Given the description of an element on the screen output the (x, y) to click on. 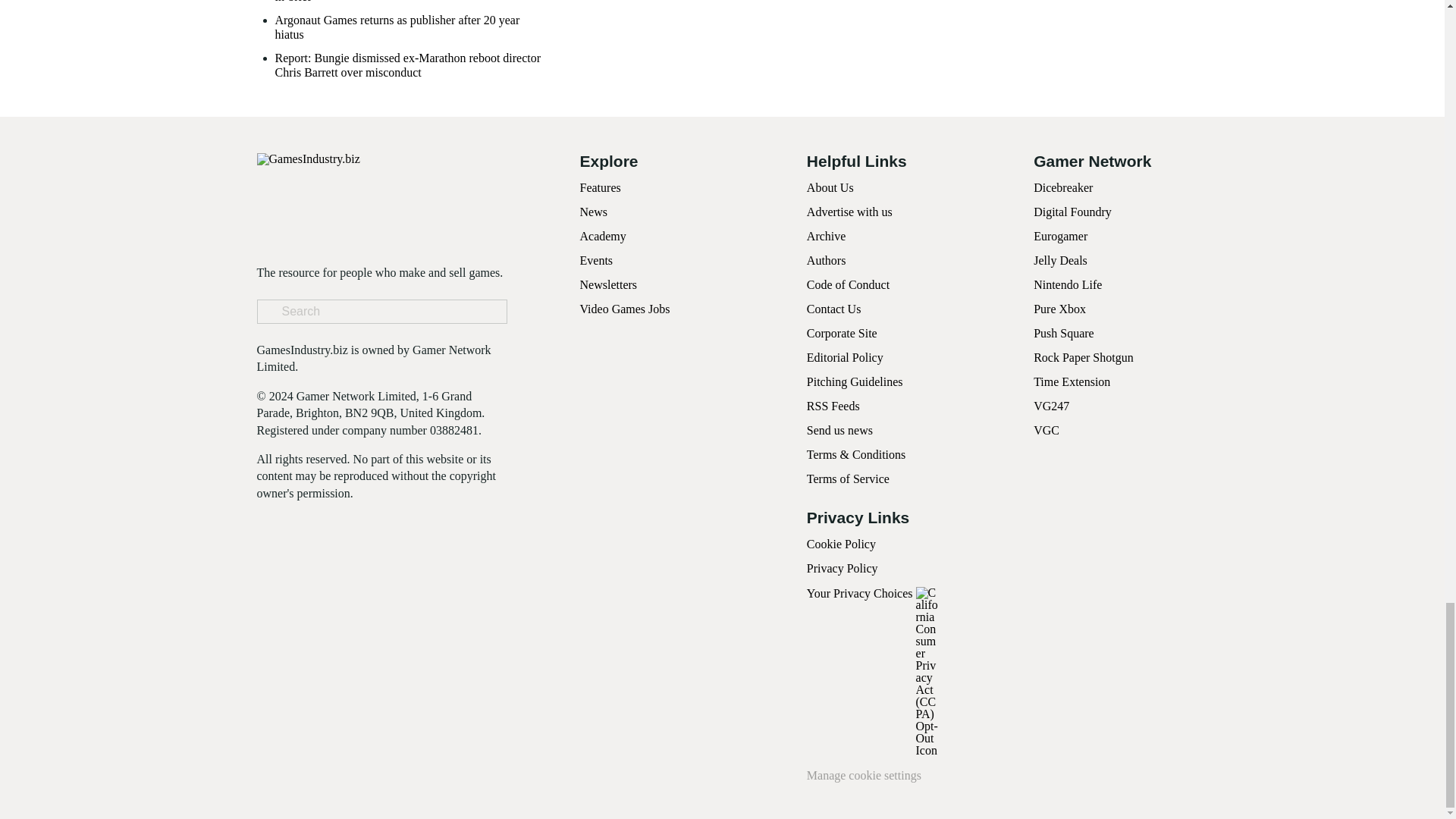
News (593, 211)
Events (595, 259)
Features (599, 187)
About Us (829, 187)
Advertise with us (849, 211)
Academy (602, 236)
Video Games Jobs (624, 308)
Newsletters (608, 284)
Argonaut Games returns as publisher after 20 year hiatus (409, 27)
